Given the description of an element on the screen output the (x, y) to click on. 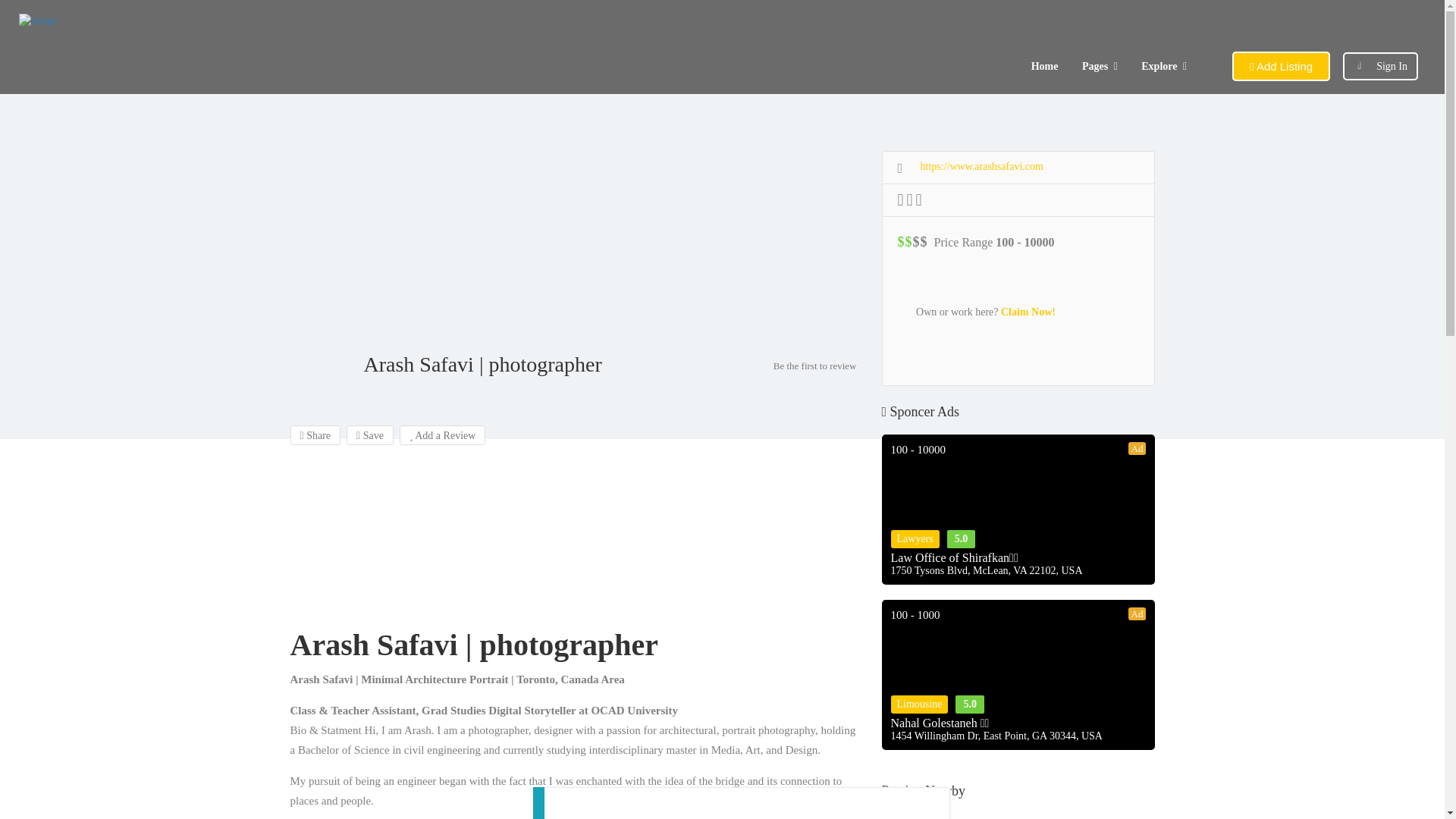
Add Listing (1280, 66)
Explore (1158, 66)
Sign In (1391, 65)
Home (1044, 66)
Pages (1094, 66)
Submit (413, 502)
